Given the description of an element on the screen output the (x, y) to click on. 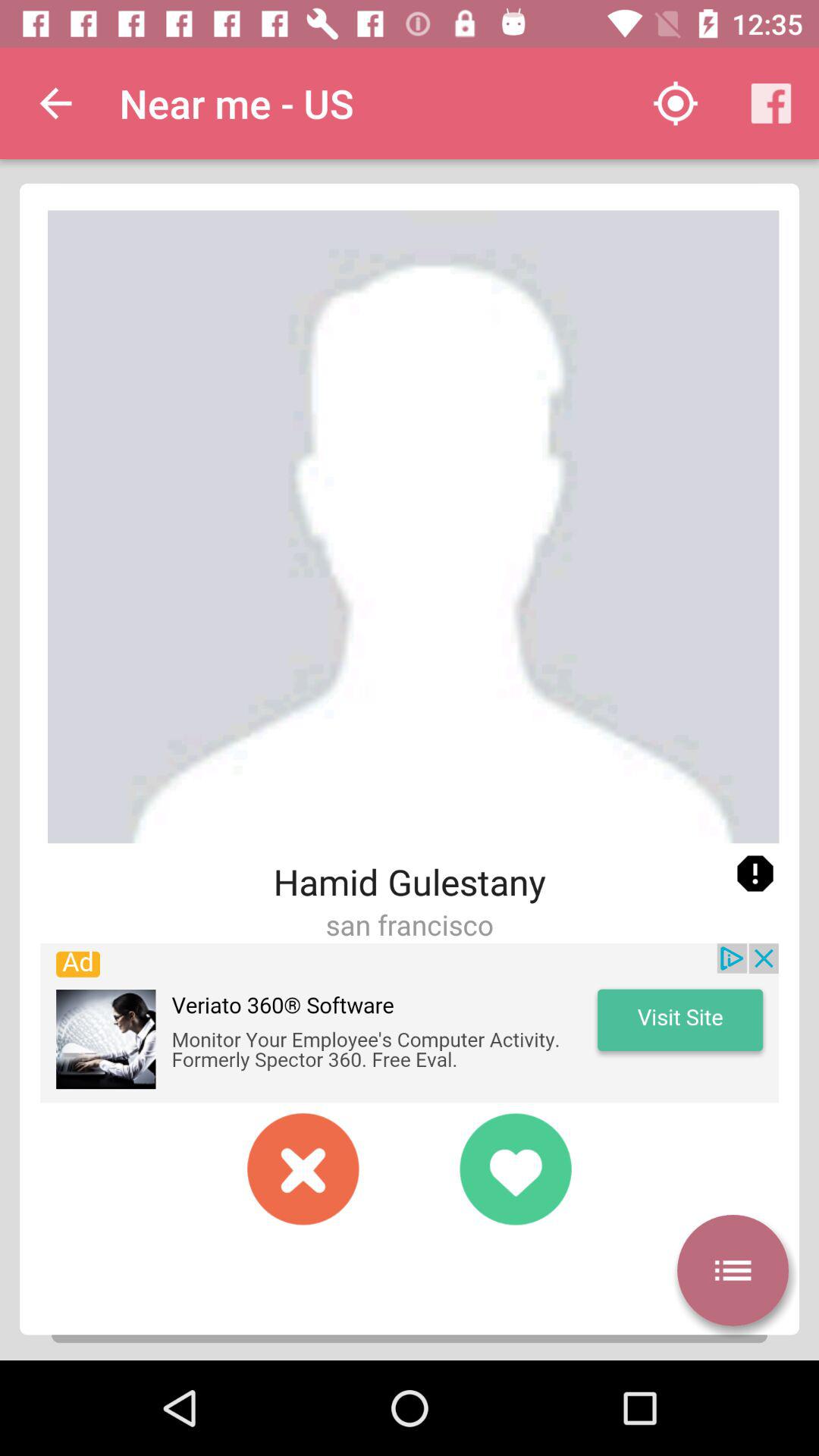
closed the app (303, 1169)
